Given the description of an element on the screen output the (x, y) to click on. 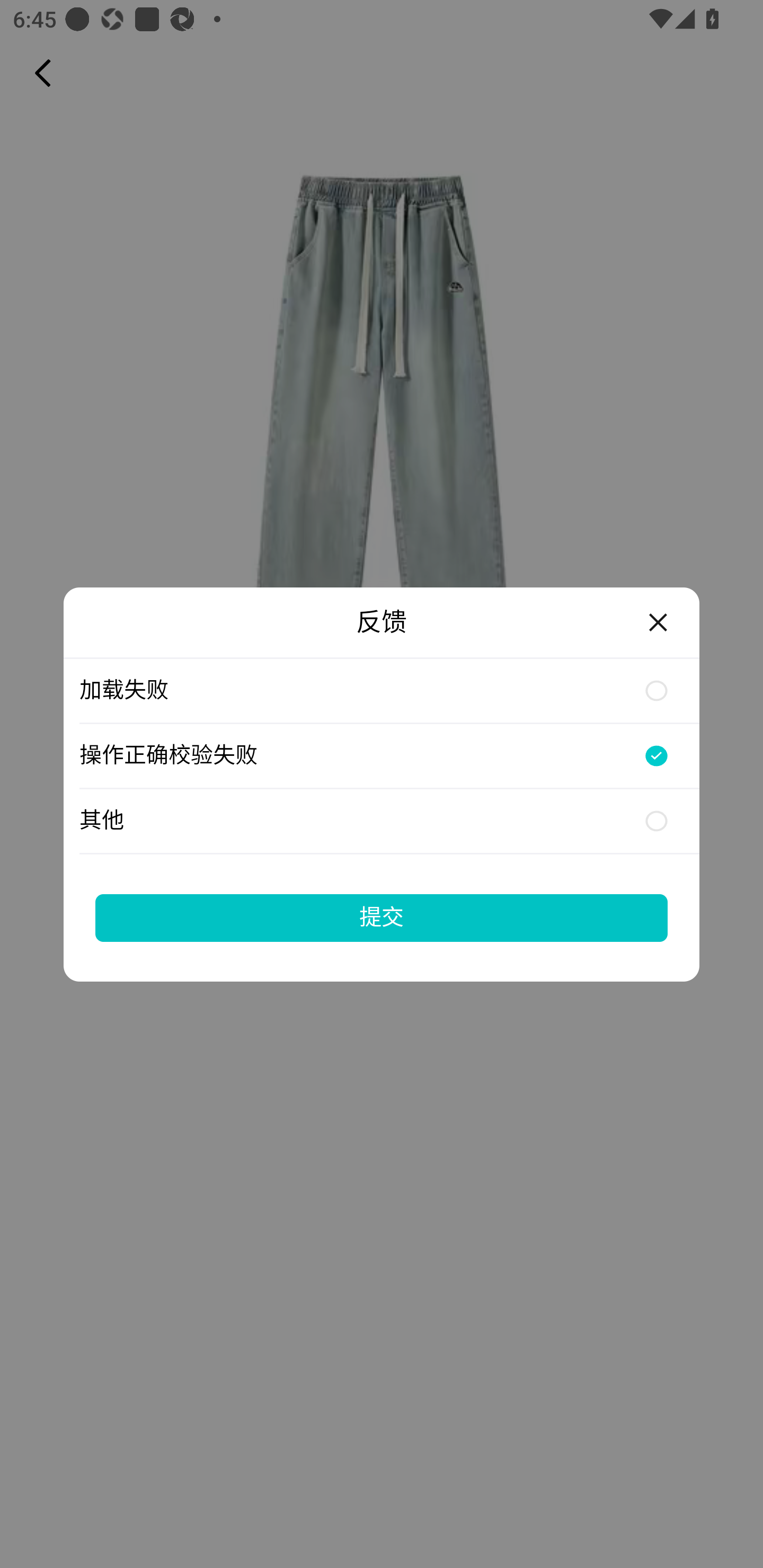
提交 (381, 917)
